Given the description of an element on the screen output the (x, y) to click on. 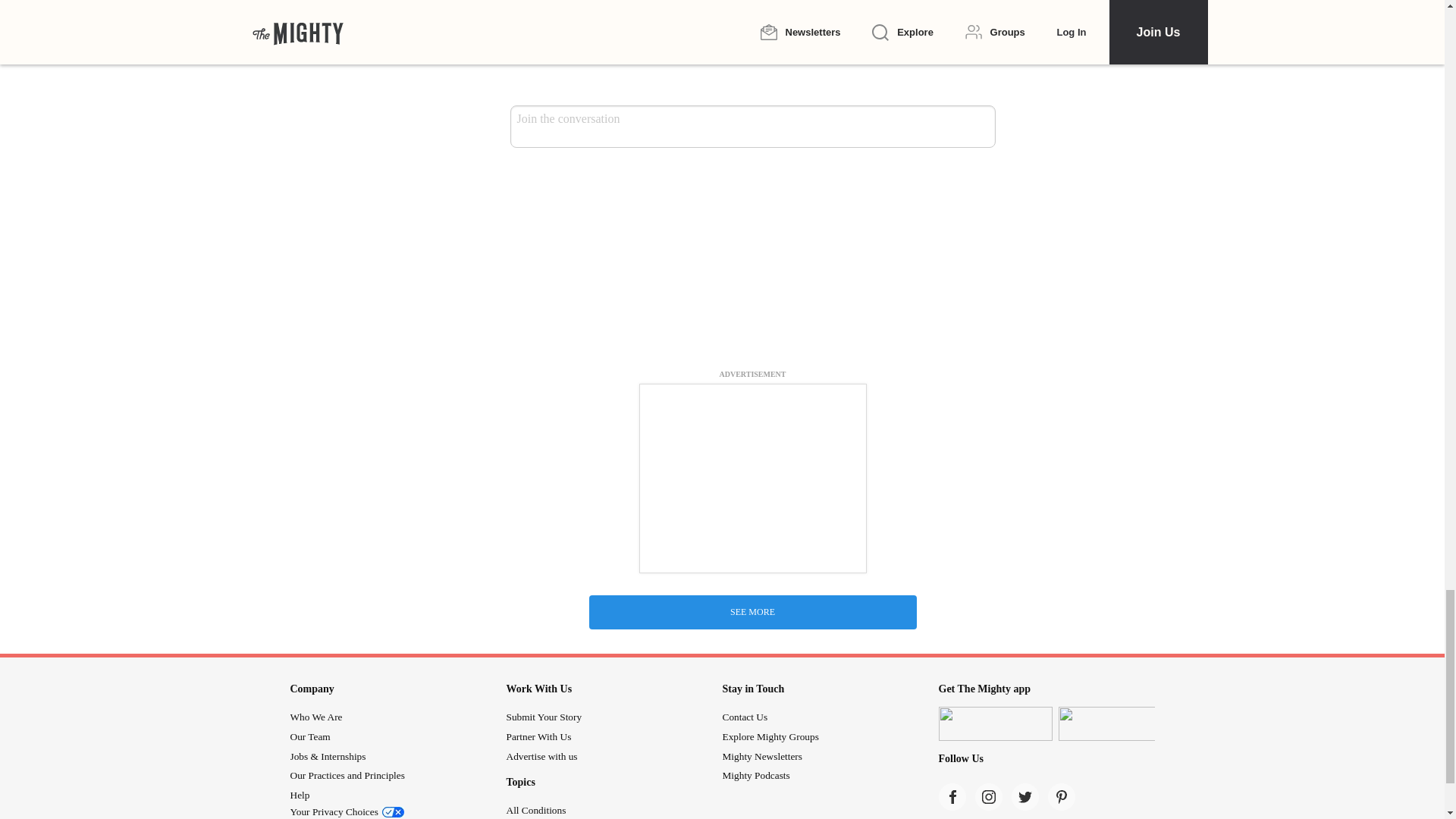
SEE MORE (751, 612)
Our Practices and Principles (346, 775)
Our Team (309, 736)
Who We Are (315, 716)
